Given the description of an element on the screen output the (x, y) to click on. 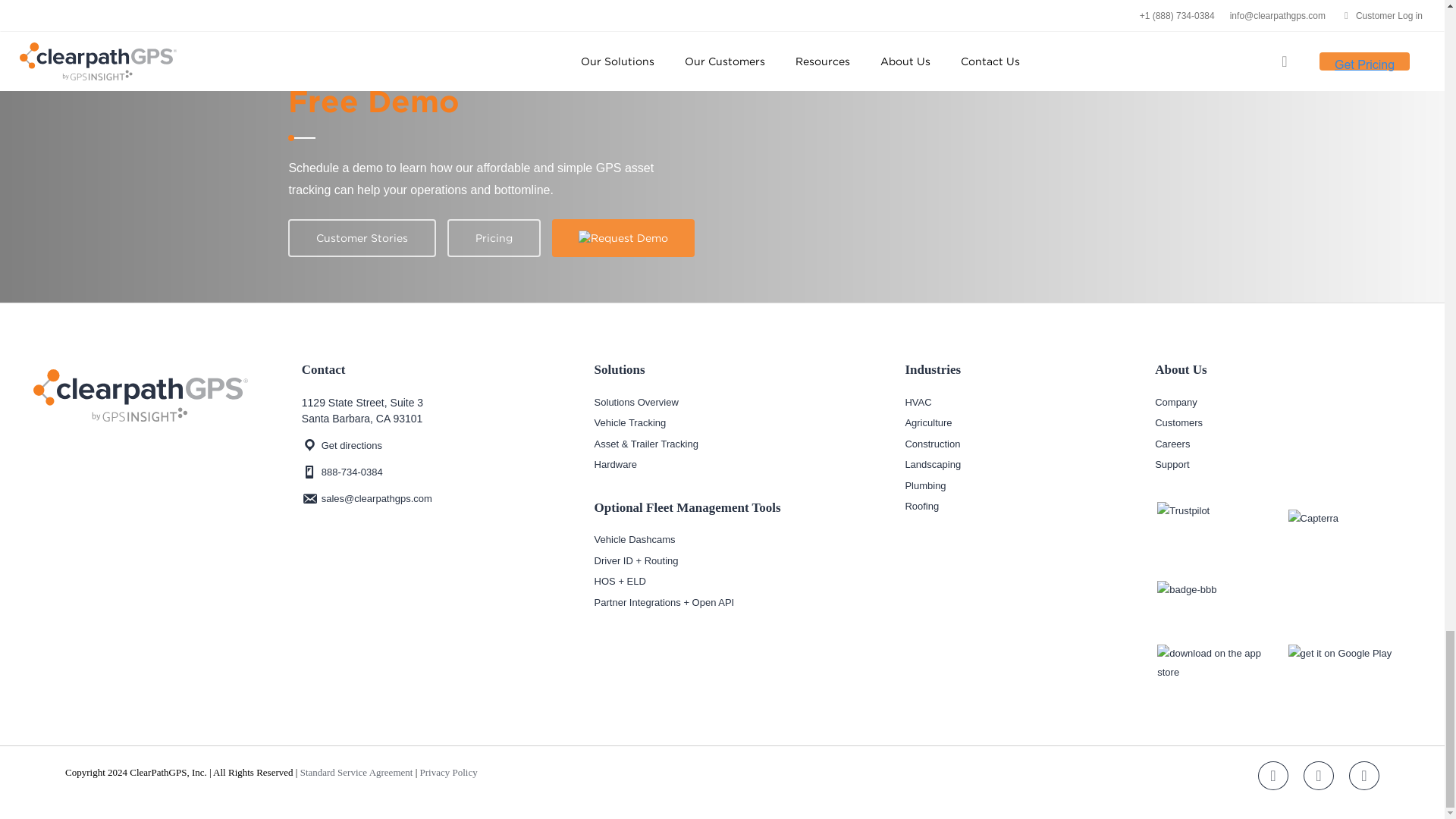
ClearPathGPS Fleet Tracking Solutions Logo-GPS-Insight- (140, 395)
download on the app store (1218, 666)
badge-bbb (1218, 603)
Standard Service Agreement (356, 771)
Privacy Policy (448, 771)
get it on Google Play (1349, 666)
Trustpilot (1218, 530)
